Given the description of an element on the screen output the (x, y) to click on. 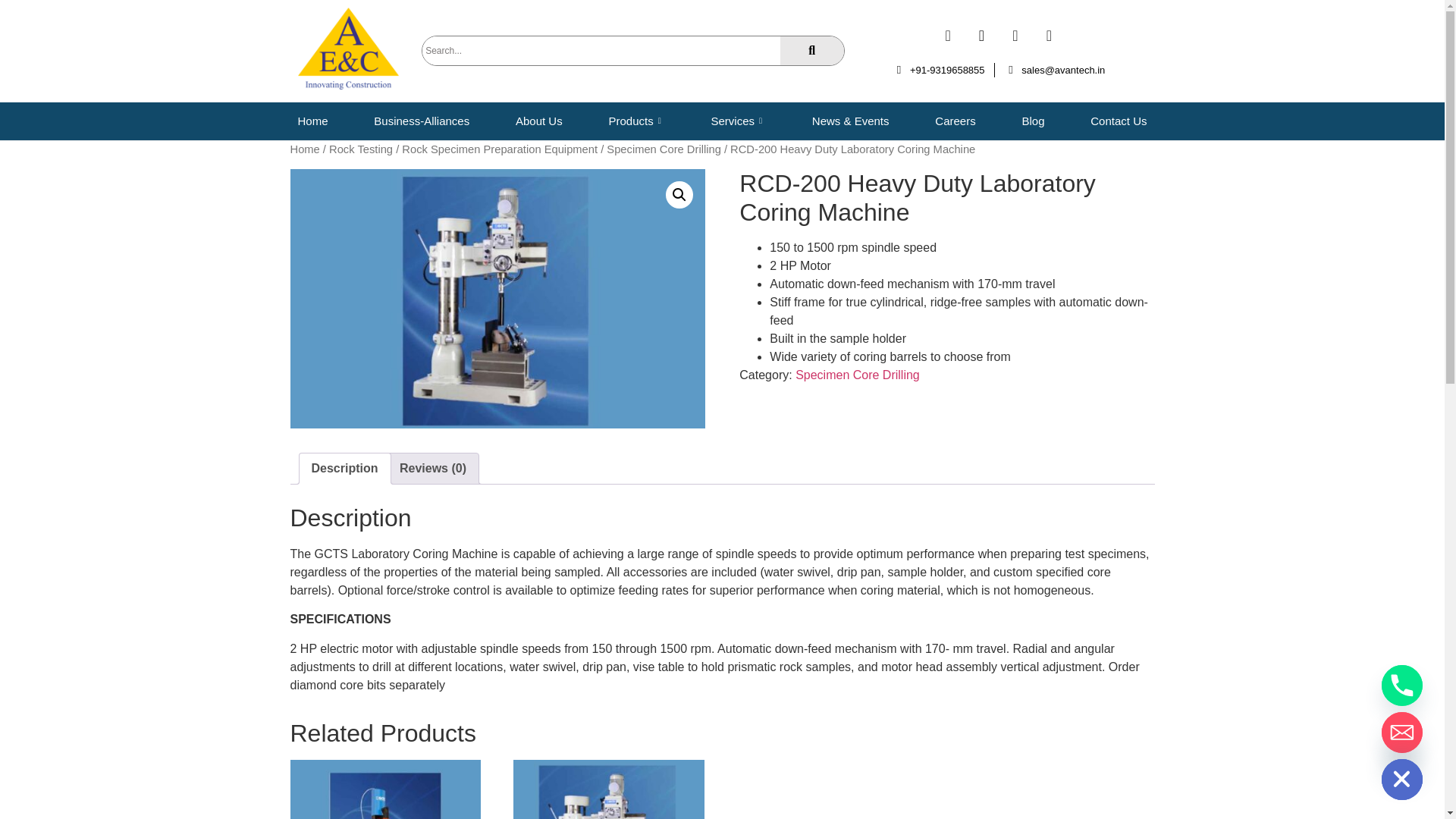
Business-Alliances (421, 121)
Search (600, 50)
Home (311, 121)
lk (496, 298)
About Us (539, 121)
Products (635, 121)
